Given the description of an element on the screen output the (x, y) to click on. 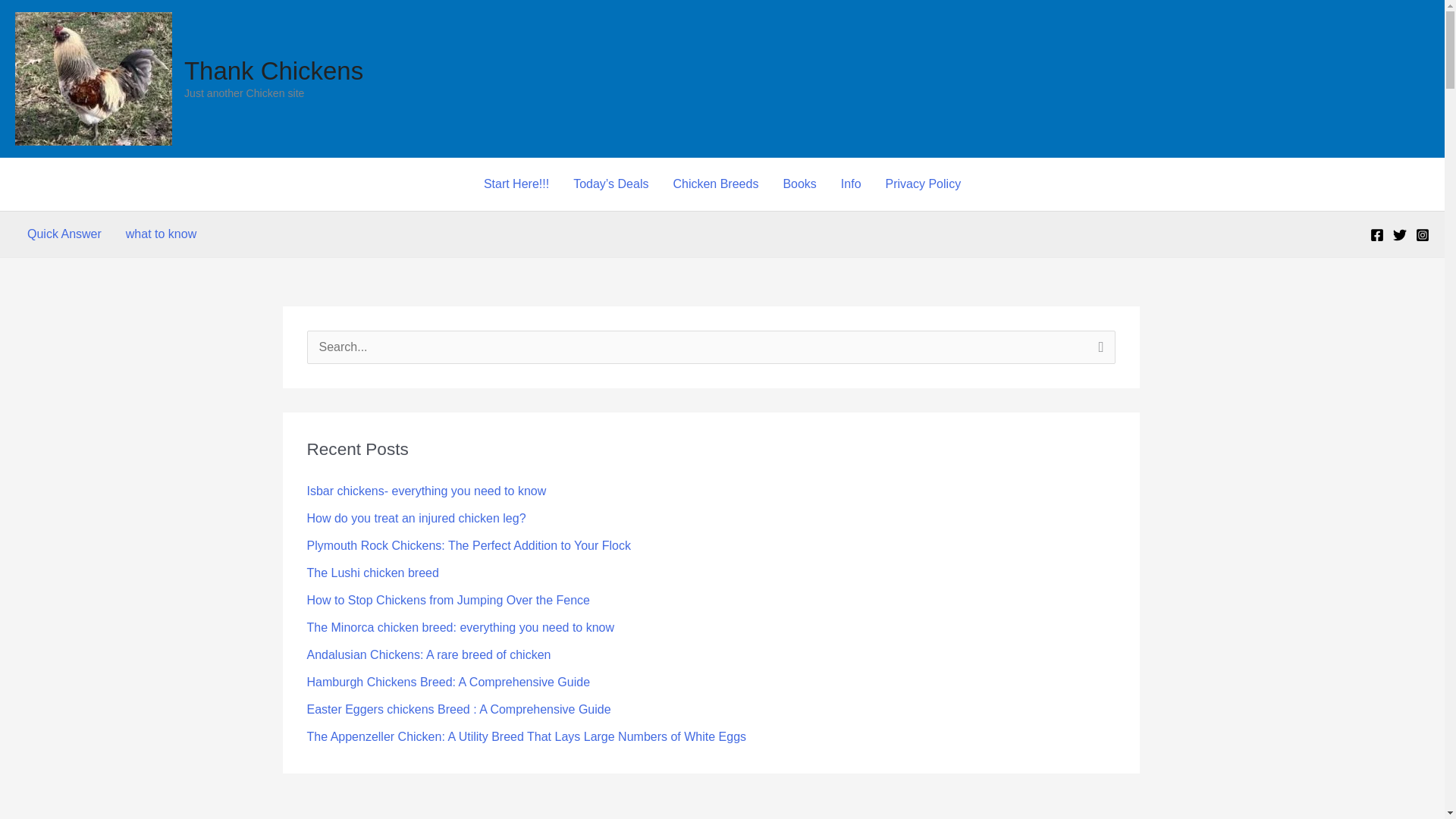
Privacy Policy (923, 184)
Quick Answer (63, 234)
The Lushi chicken breed (371, 572)
How do you treat an injured chicken leg? (415, 517)
How to Stop Chickens from Jumping Over the Fence (447, 599)
Plymouth Rock Chickens: The Perfect Addition to Your Flock (467, 545)
Hamburgh Chickens Breed: A Comprehensive Guide (447, 681)
Easter Eggers chickens Breed : A Comprehensive Guide (457, 708)
Books (799, 184)
